Given the description of an element on the screen output the (x, y) to click on. 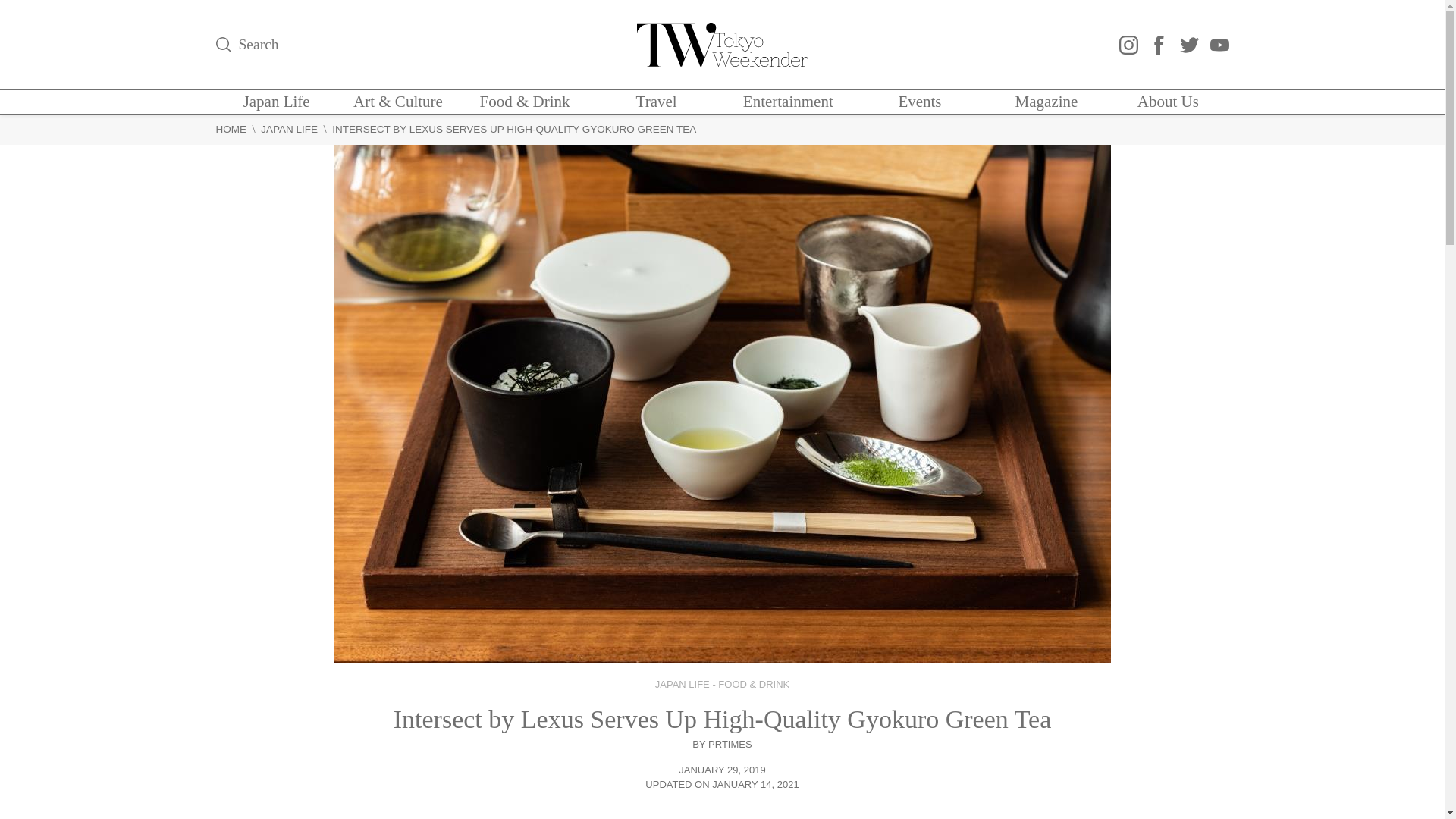
Events (919, 101)
Entertainment (787, 101)
Magazine (1046, 101)
Travel (656, 101)
About Us (1167, 101)
Japan Life (276, 101)
